Given the description of an element on the screen output the (x, y) to click on. 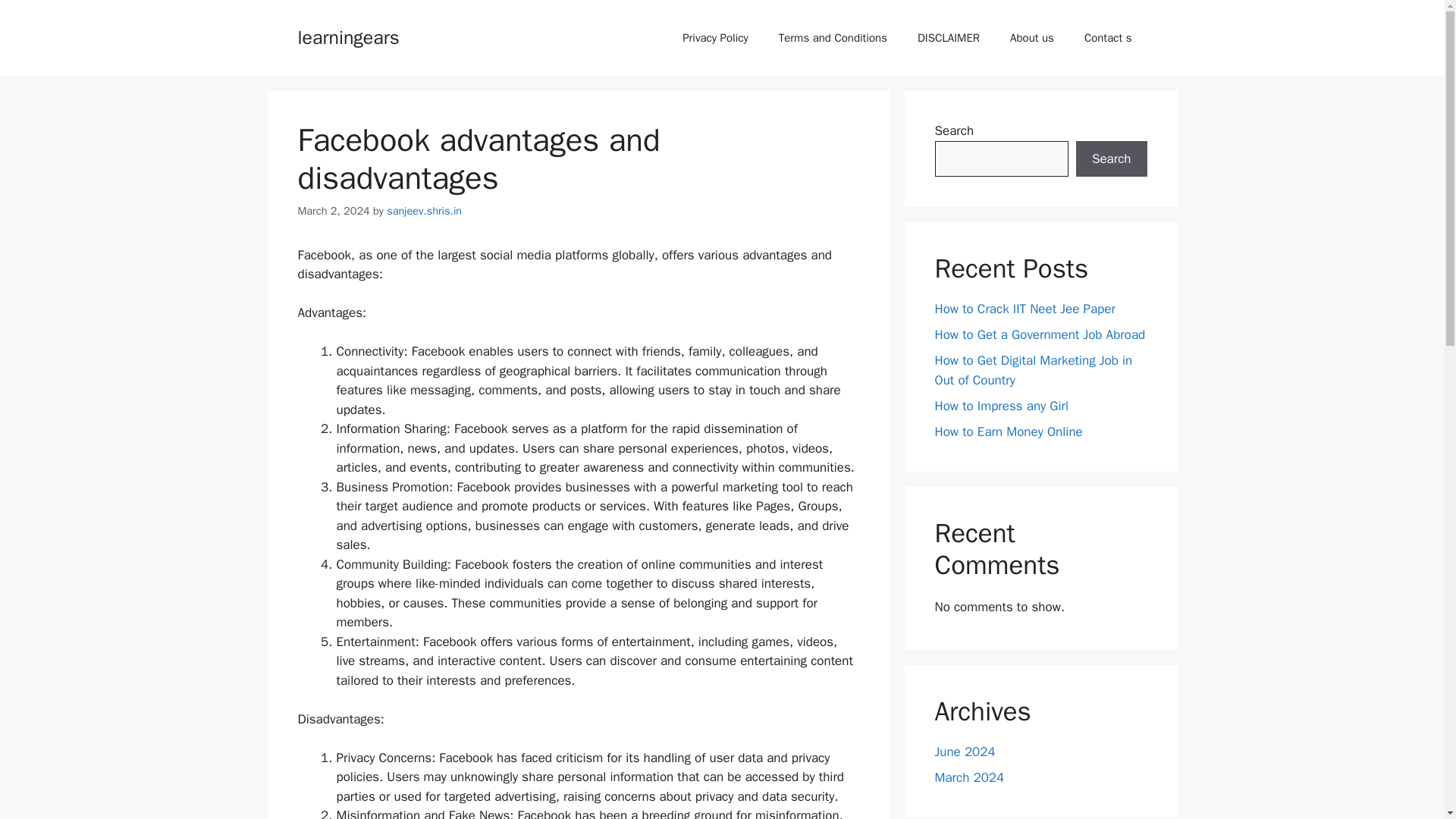
Privacy Policy (714, 37)
Search (1111, 158)
How to Impress any Girl (1001, 405)
March 2024 (969, 777)
How to Get Digital Marketing Job in Out of Country (1033, 370)
How to Earn Money Online (1007, 430)
About us (1031, 37)
sanjeev.shris.in (424, 210)
learningears (347, 37)
How to Crack IIT Neet Jee Paper (1024, 308)
View all posts by sanjeev.shris.in (424, 210)
Terms and Conditions (832, 37)
Contact s (1107, 37)
June 2024 (964, 751)
DISCLAIMER (948, 37)
